Given the description of an element on the screen output the (x, y) to click on. 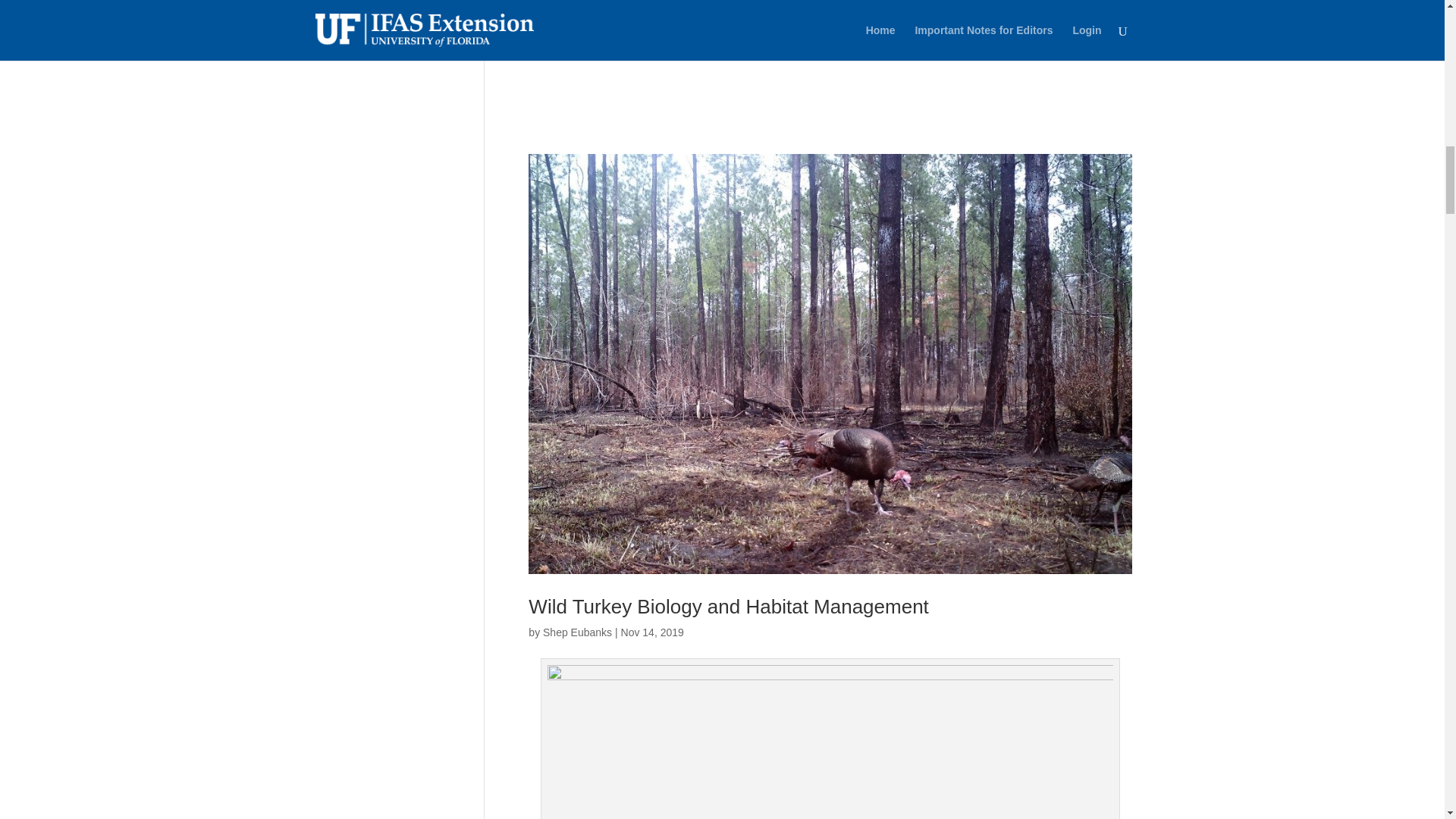
Wild Turkey Biology and Habitat Management (728, 606)
Posts by Shep Eubanks (577, 632)
Shep Eubanks (577, 632)
